Given the description of an element on the screen output the (x, y) to click on. 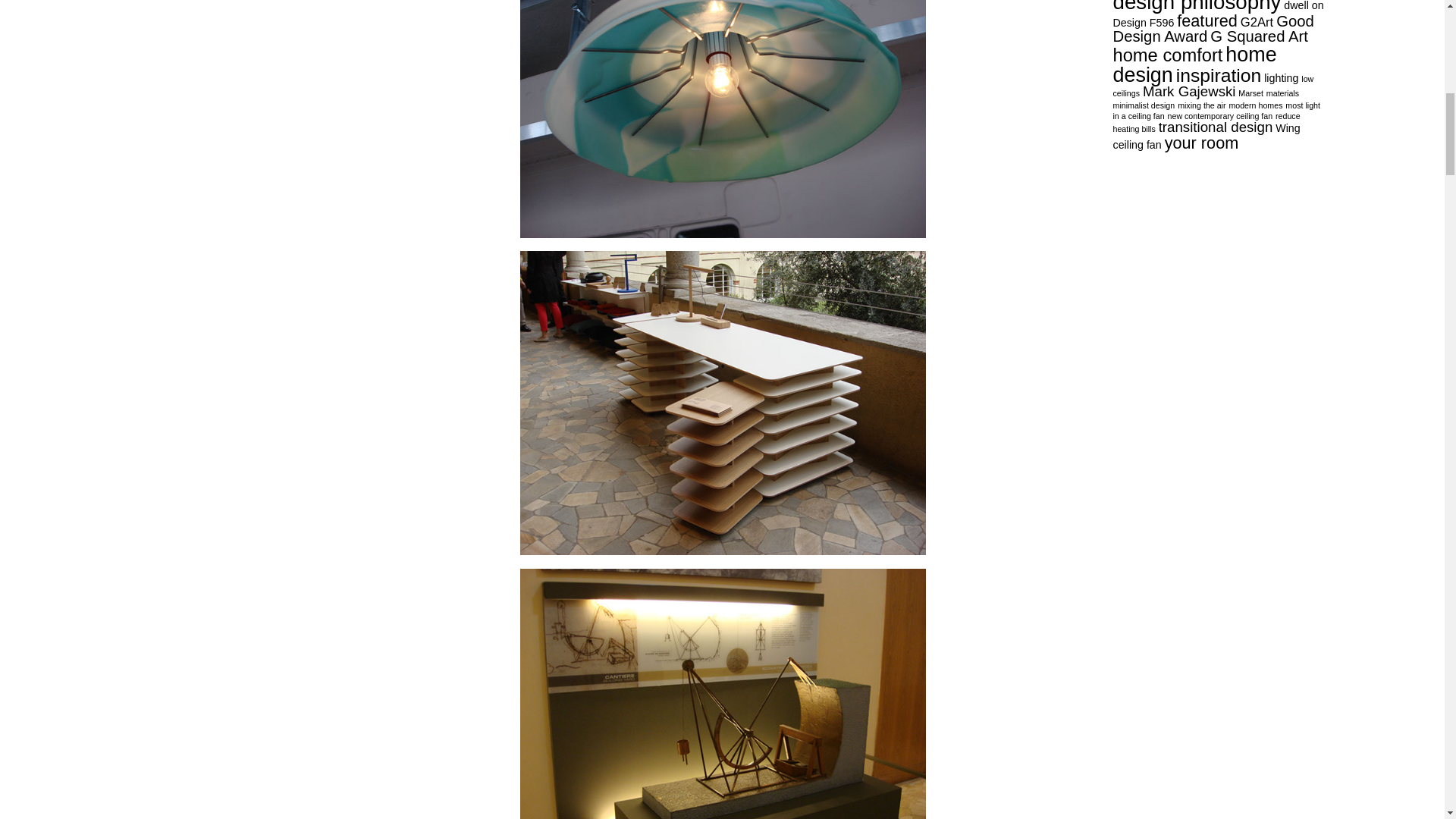
G2Art inspiration image 3 (722, 402)
G2Art inspiration image 4 (722, 693)
G2Art inspiration image 2 (722, 118)
